Given the description of an element on the screen output the (x, y) to click on. 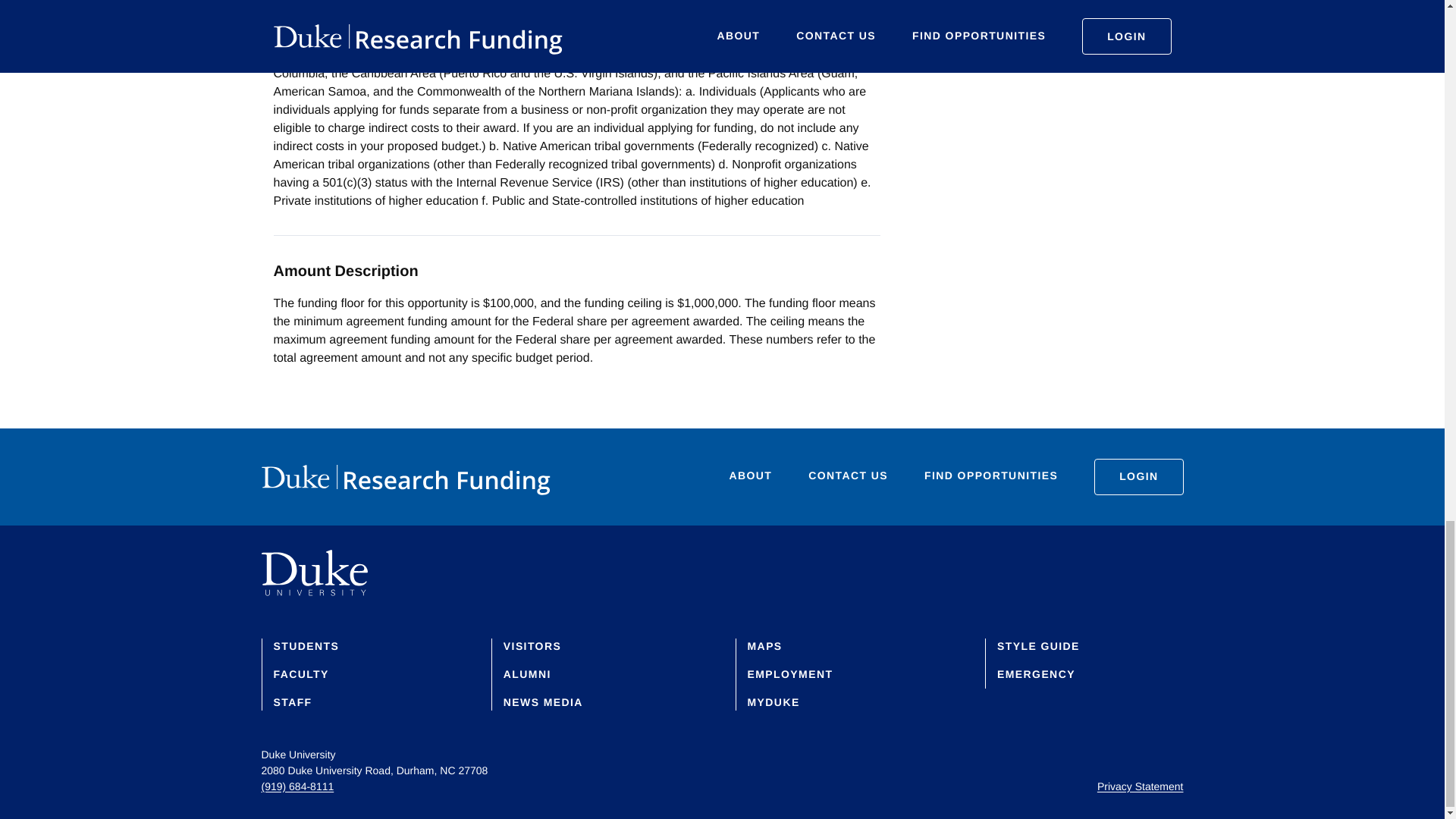
EMERGENCY (1036, 674)
STYLE GUIDE (1038, 645)
NEWS MEDIA (543, 702)
Privacy Statement (1140, 786)
STUDENTS (306, 645)
VISITORS (531, 645)
FIND OPPORTUNITIES (991, 476)
ALUMNI (527, 674)
CONTACT US (848, 476)
STAFF (292, 702)
